Given the description of an element on the screen output the (x, y) to click on. 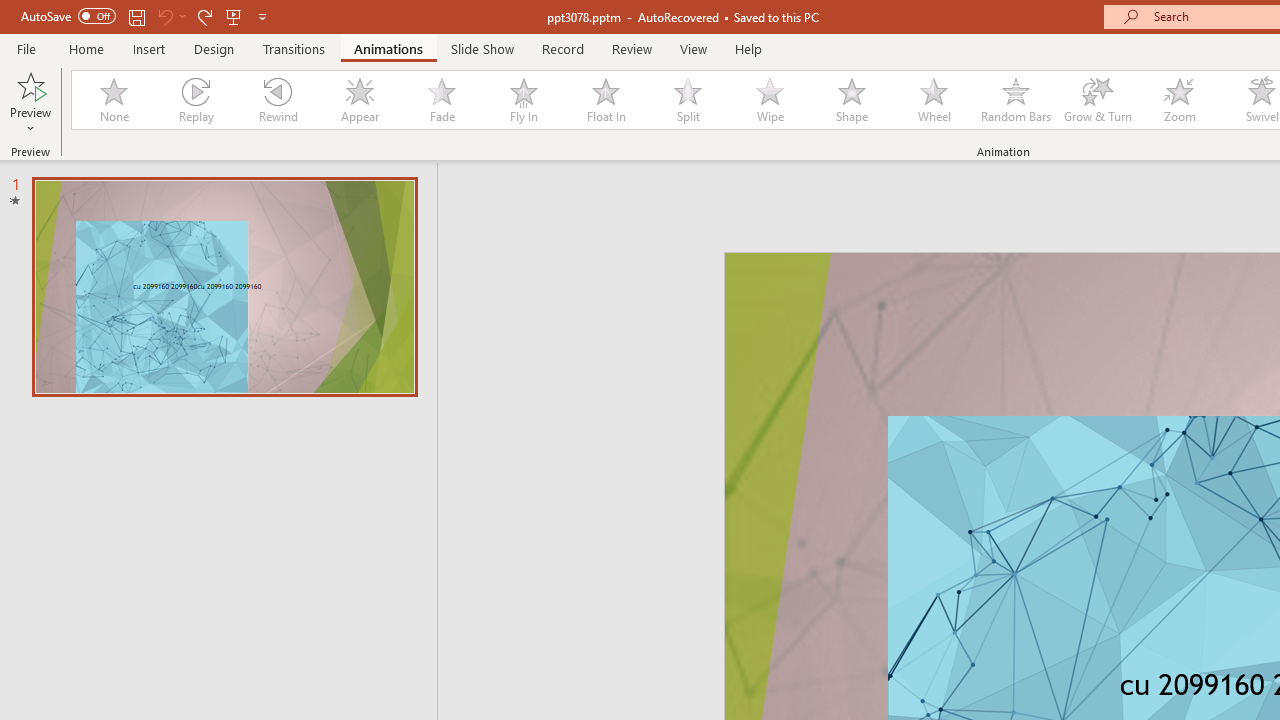
Float In (605, 100)
Grow & Turn (1098, 100)
Random Bars (1016, 100)
Split (687, 100)
Wipe (770, 100)
Preview (30, 84)
Rewind (277, 100)
